Given the description of an element on the screen output the (x, y) to click on. 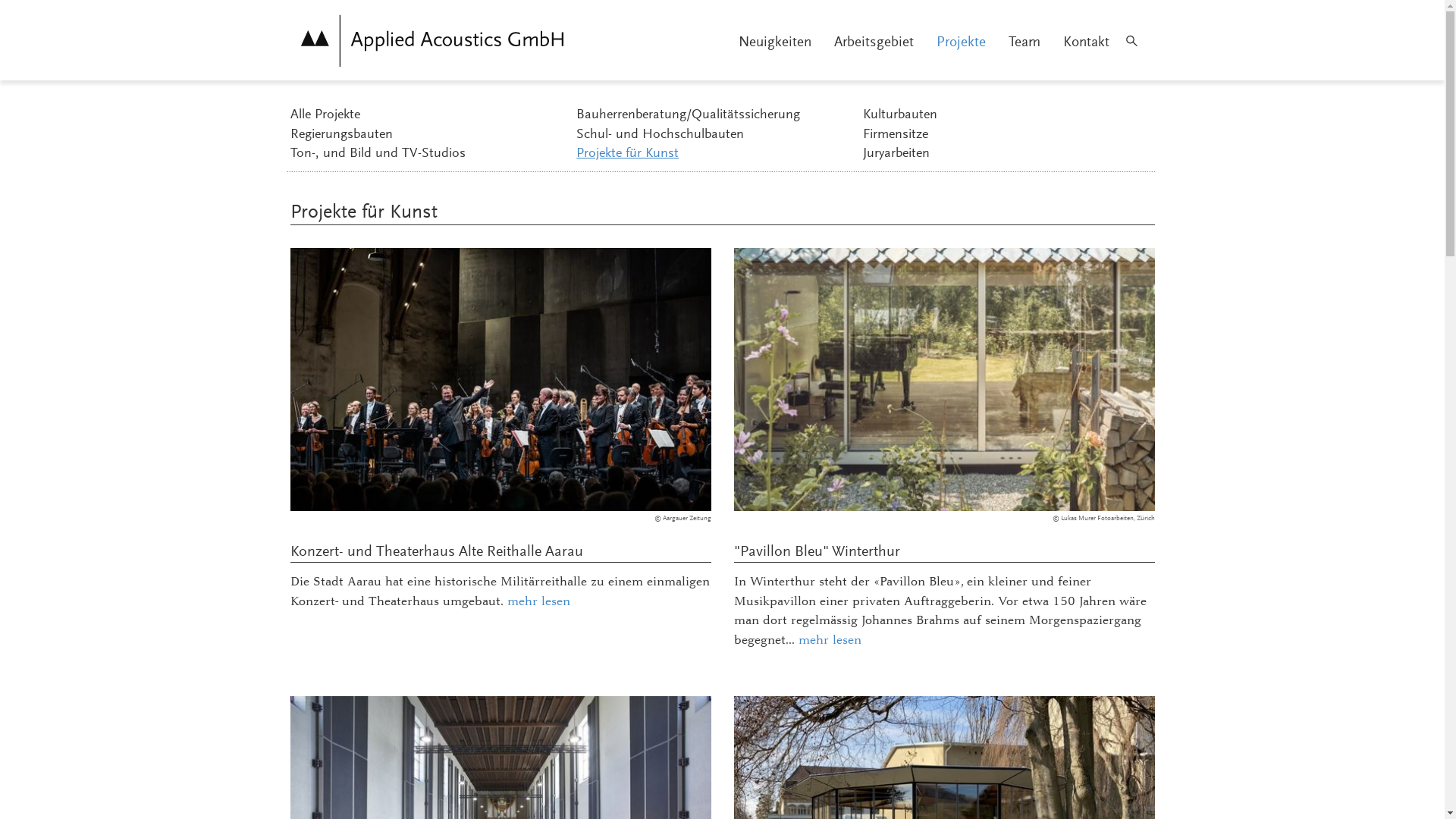
mehr lesen Element type: text (828, 639)
Neuigkeiten Element type: text (774, 42)
Team Element type: text (1023, 42)
Schul- und Hochschulbauten Element type: text (715, 135)
Arbeitsgebiet Element type: text (873, 42)
Konzert- und Theaterhaus Alte Reithalle Aarau Element type: text (435, 551)
Regierungsbauten Element type: text (428, 135)
mehr lesen Element type: text (537, 600)
Alle Projekte Element type: text (428, 115)
  Element type: text (289, 71)
Ton-, und Bild und TV-Studios Element type: text (428, 154)
Suche
  Element type: text (1131, 39)
Eroeffnungskonzert Argovia Philharmonic Element type: hover (499, 379)
Startseite Element type: hover (431, 40)
Firmensitze Element type: text (1002, 135)
Kontakt Element type: text (1085, 42)
Pavillon Bleu Winterthur - Aussenansicht Element type: hover (944, 379)
"Pavillon Bleu" Winterthur Element type: text (817, 551)
Kulturbauten Element type: text (1002, 115)
Juryarbeiten Element type: text (1002, 154)
Projekte Element type: text (961, 42)
